Given the description of an element on the screen output the (x, y) to click on. 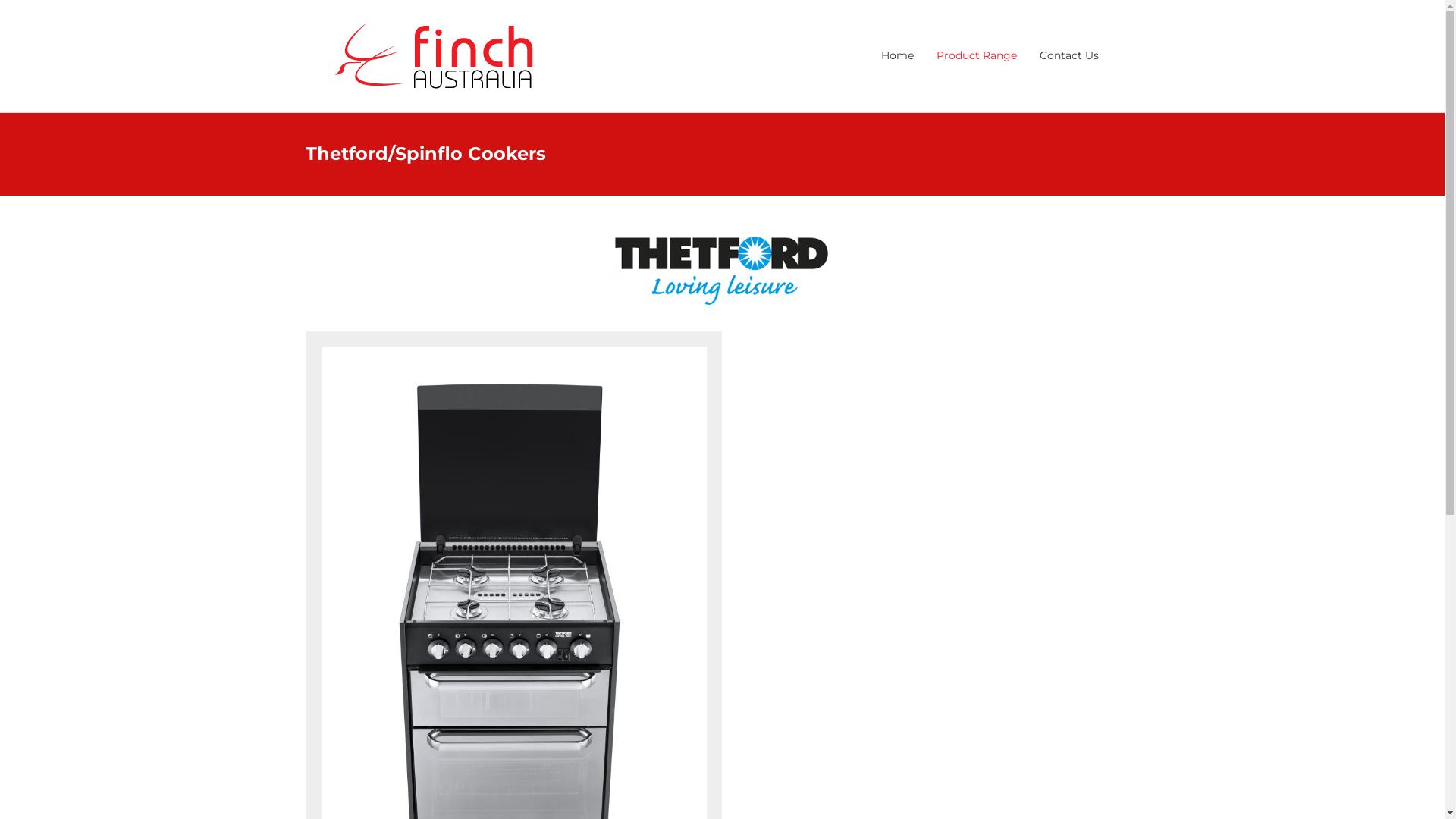
thetford Element type: hover (721, 270)
Product Range Element type: text (976, 56)
Contact Us Element type: text (1069, 56)
Home Element type: text (897, 56)
